Given the description of an element on the screen output the (x, y) to click on. 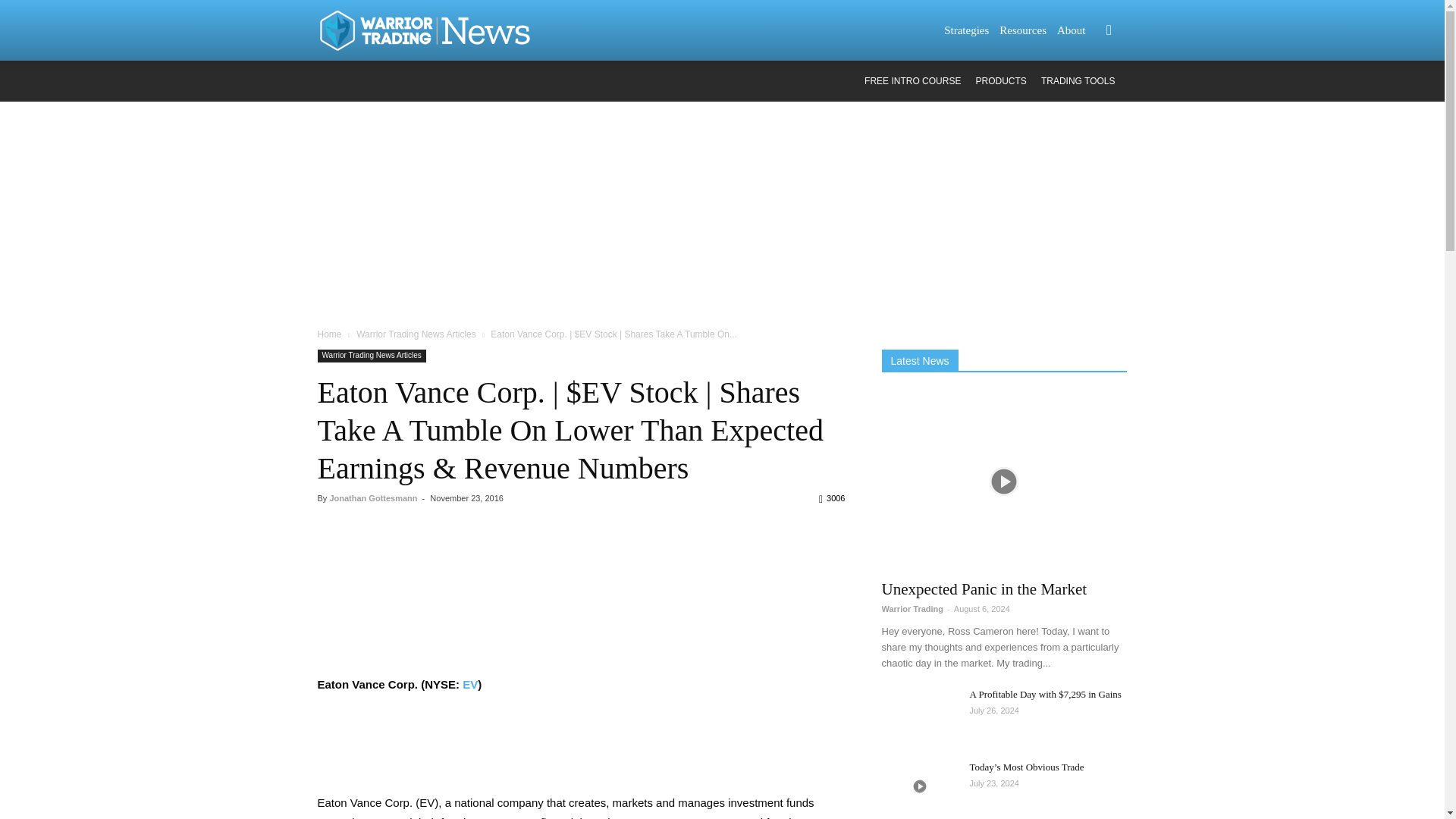
View all posts in Warrior Trading News Articles (416, 334)
Strategies (966, 30)
FREE INTRO COURSE (912, 81)
Resources (1022, 30)
PRODUCTS (1000, 81)
Unexpected Panic in the Market (1003, 481)
Unexpected Panic in the Market (983, 588)
